Given the description of an element on the screen output the (x, y) to click on. 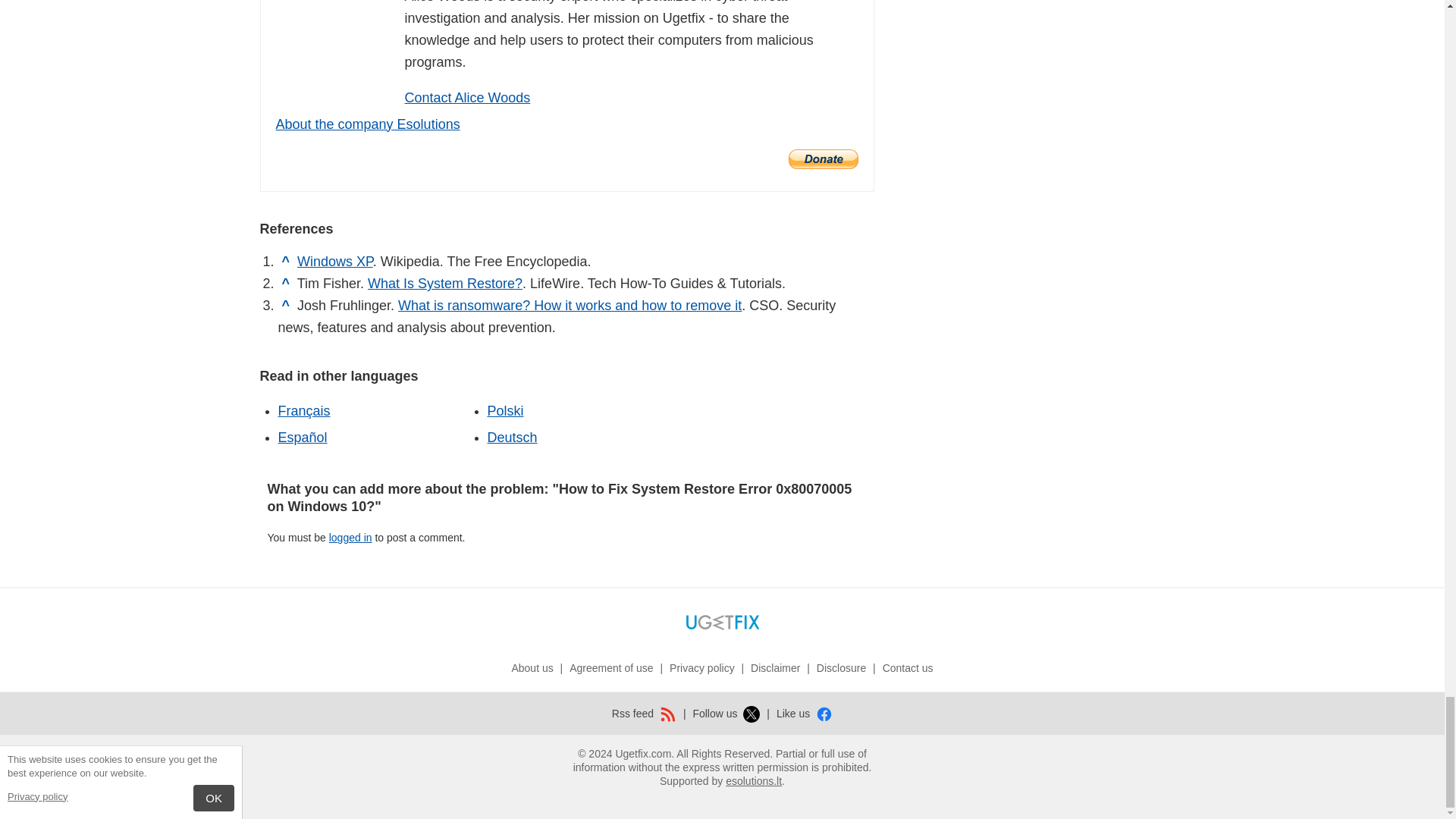
PayPal - The safer, easier way to pay online! (824, 158)
Deutsch (511, 437)
Polski (504, 410)
About the company Esolutions (368, 124)
Contact Alice Woods (467, 97)
Windows XP (334, 261)
